Given the description of an element on the screen output the (x, y) to click on. 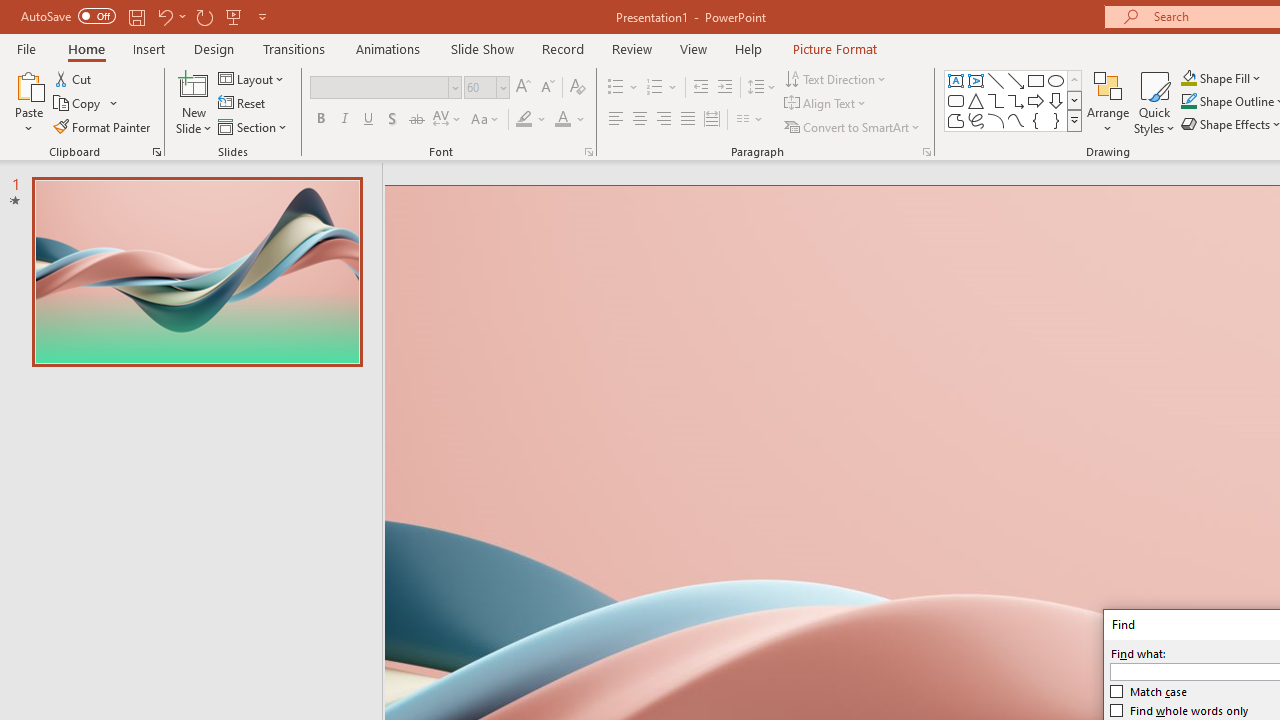
Curve (1016, 120)
Connector: Elbow (995, 100)
Align Left (616, 119)
Oval (1055, 80)
Text Box (955, 80)
Arc (995, 120)
Align Text (826, 103)
Columns (750, 119)
Arrange (1108, 102)
Format Painter (103, 126)
Left Brace (1035, 120)
